Given the description of an element on the screen output the (x, y) to click on. 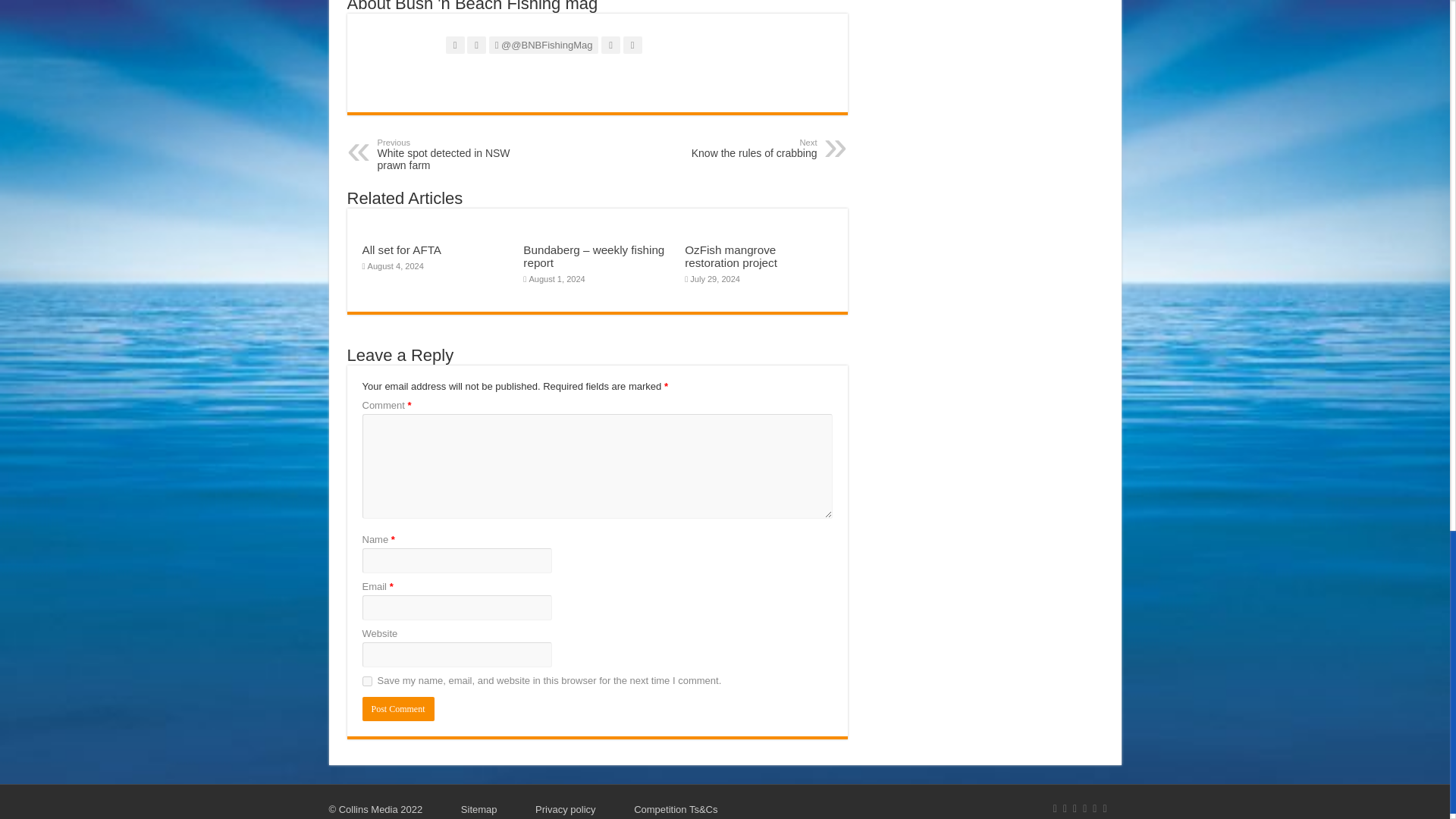
Post Comment (397, 708)
yes (367, 681)
